Given the description of an element on the screen output the (x, y) to click on. 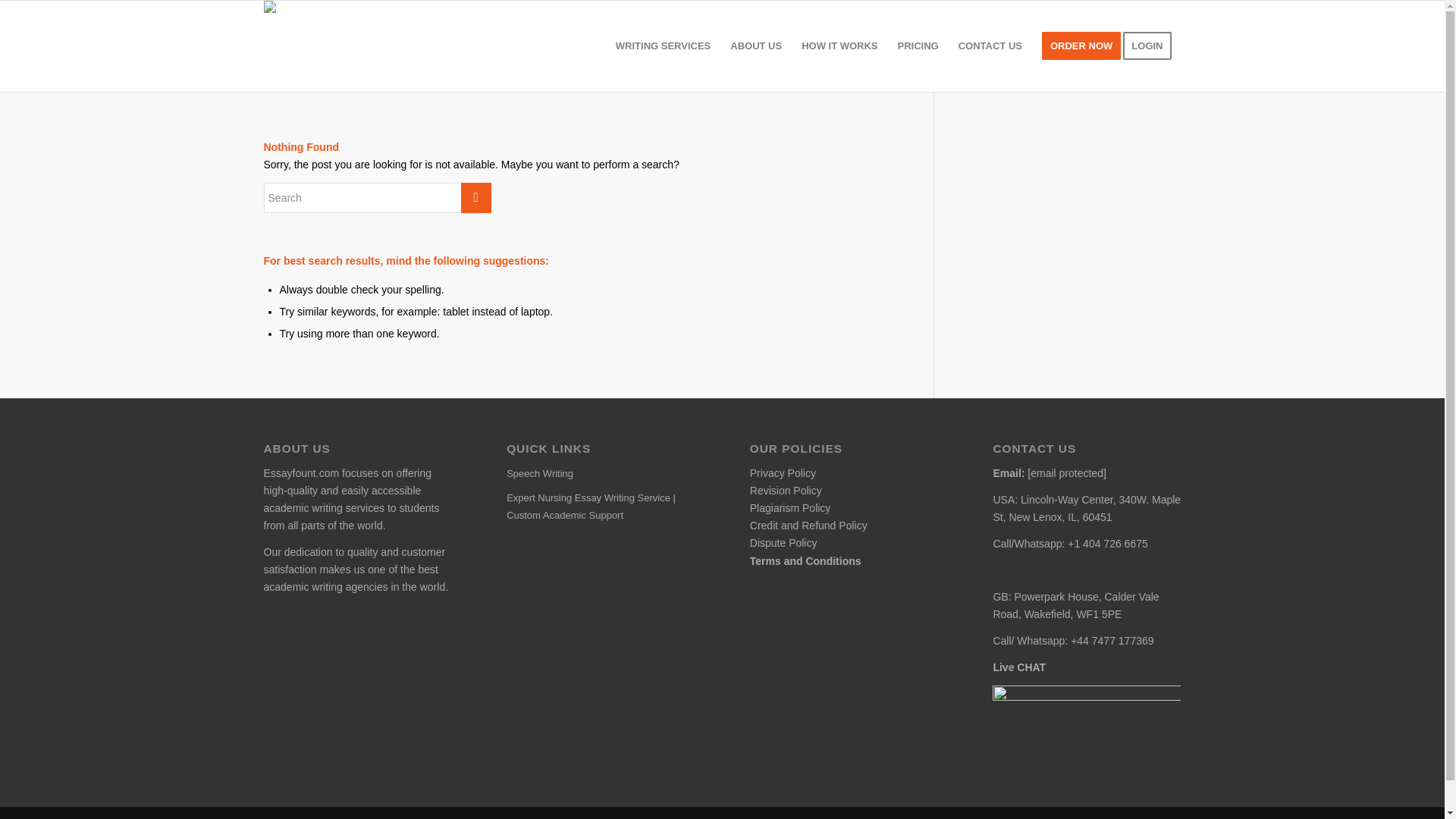
Credit and Refund Policy (808, 525)
Terms and Conditions (805, 561)
Live CHAT (1018, 666)
Plagiarism Policy (790, 508)
WRITING SERVICES (662, 45)
ORDER NOW (1081, 45)
Revision Policy (785, 490)
Dispute Policy (782, 542)
CONTACT US (990, 45)
Speech Writing (600, 473)
